Given the description of an element on the screen output the (x, y) to click on. 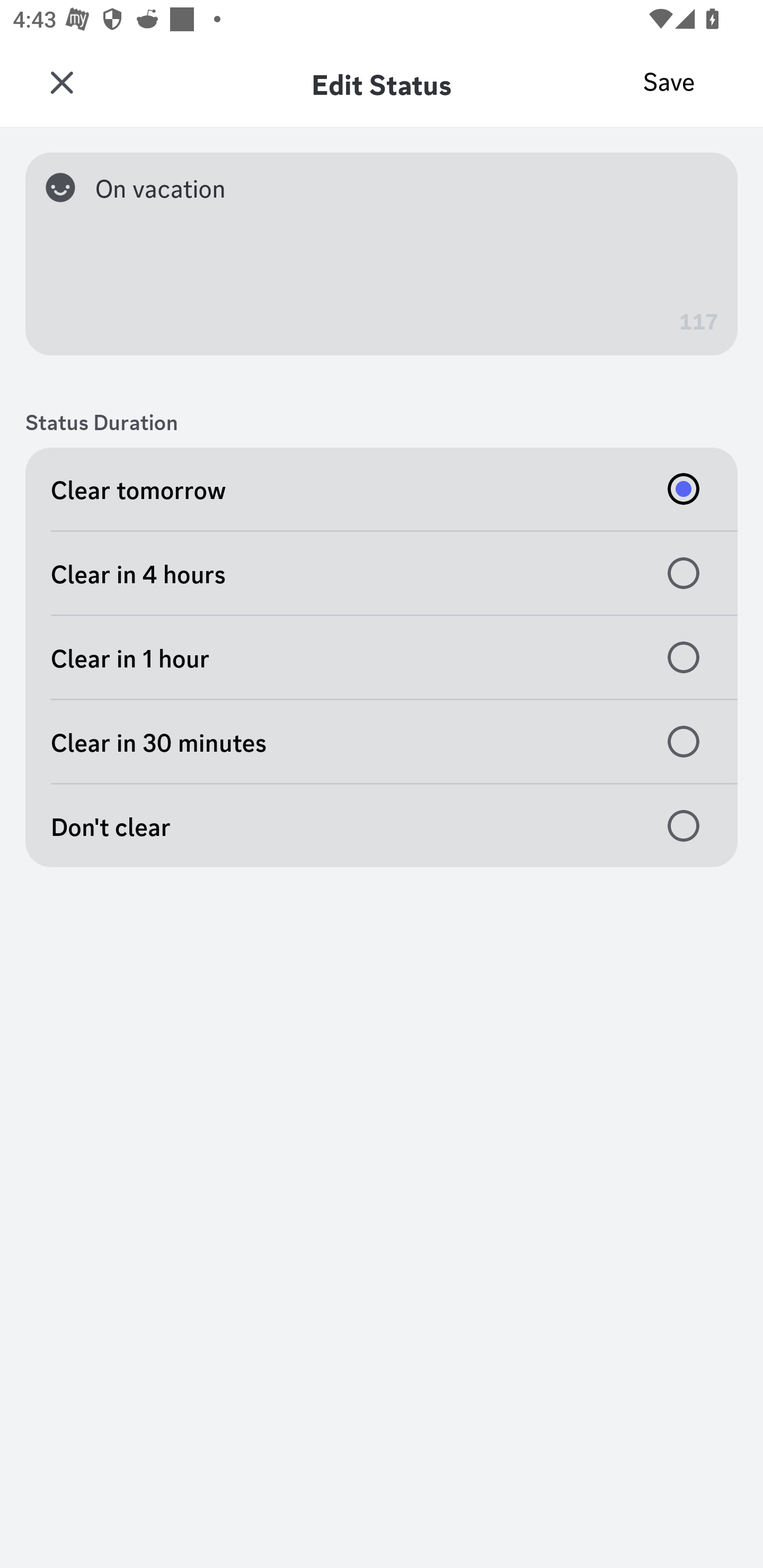
Close (61, 82)
Save (669, 82)
Select Custom Status Emoji (66, 186)
Clear tomorrow (381, 487)
Clear in 4 hours (381, 572)
Clear in 1 hour (381, 657)
Clear in 30 minutes (381, 741)
Don't clear (381, 825)
